Given the description of an element on the screen output the (x, y) to click on. 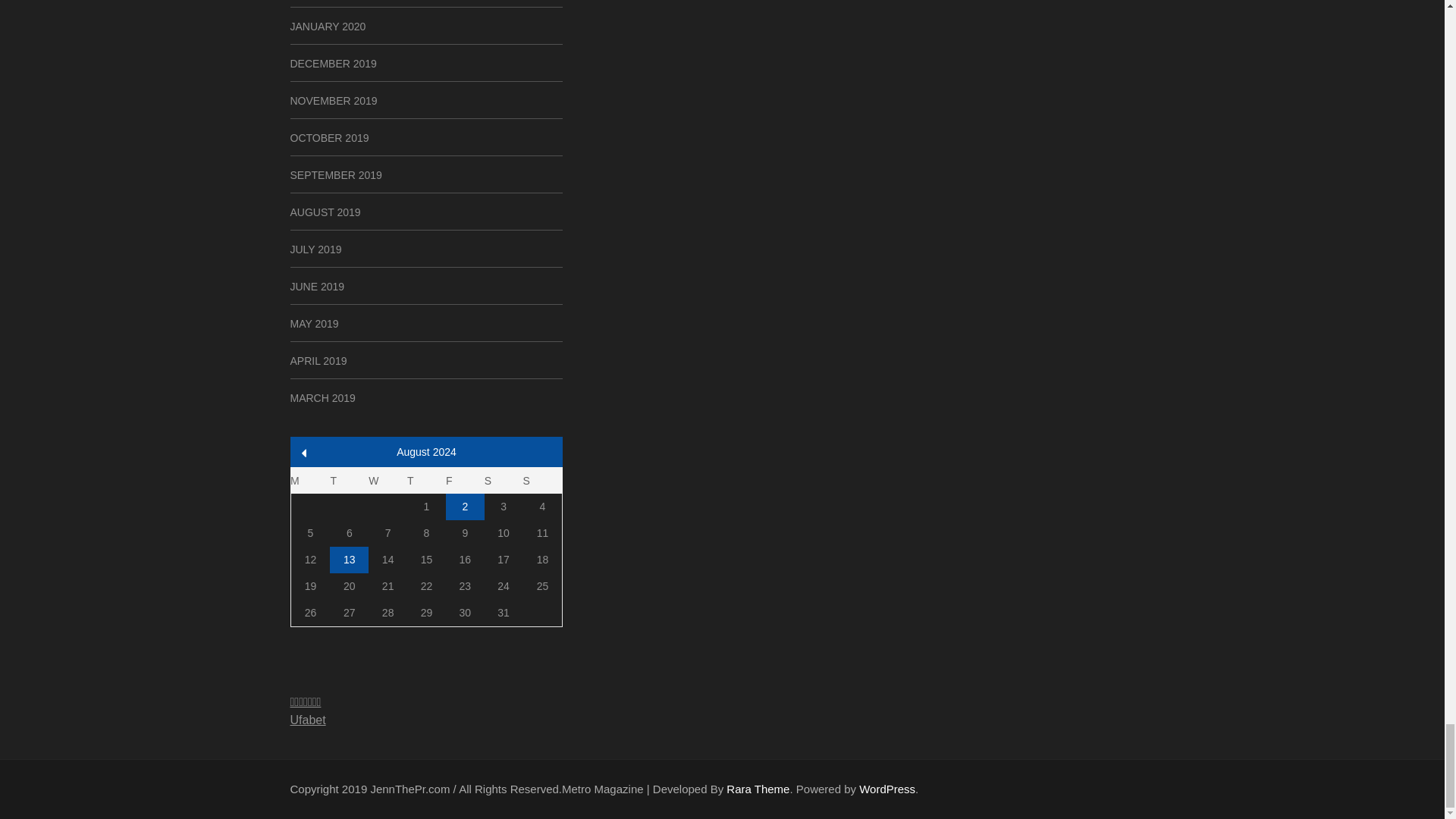
Sunday (542, 479)
Thursday (426, 479)
Tuesday (349, 479)
Friday (464, 479)
Wednesday (387, 479)
Monday (309, 479)
Saturday (503, 479)
